Given the description of an element on the screen output the (x, y) to click on. 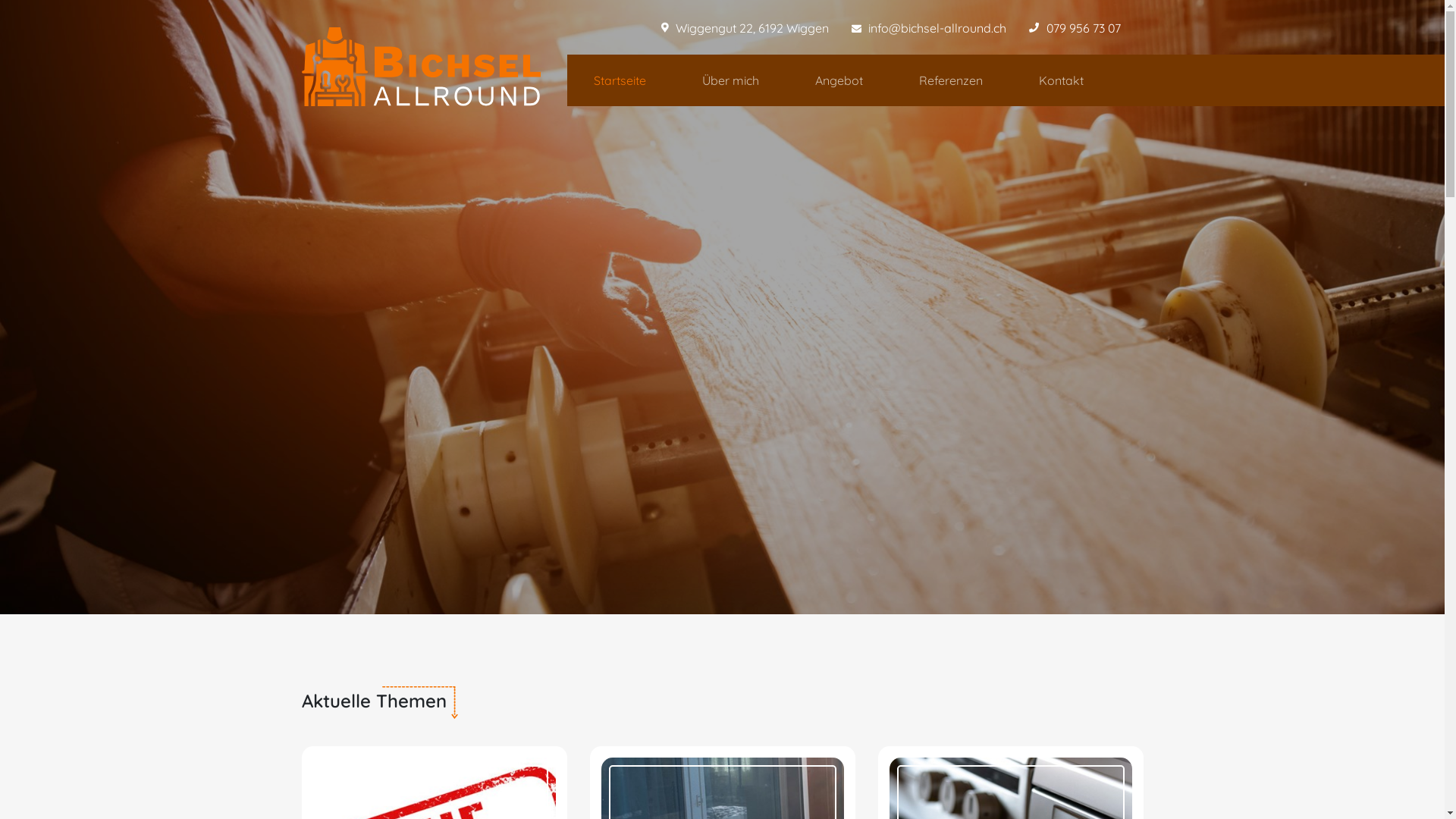
info@bichsel-allround.ch Element type: text (936, 27)
Startseite Element type: text (619, 80)
Angebot Element type: text (838, 80)
079 956 73 07 Element type: text (1083, 27)
Referenzen Element type: text (949, 80)
Kontakt Element type: text (1060, 80)
